Given the description of an element on the screen output the (x, y) to click on. 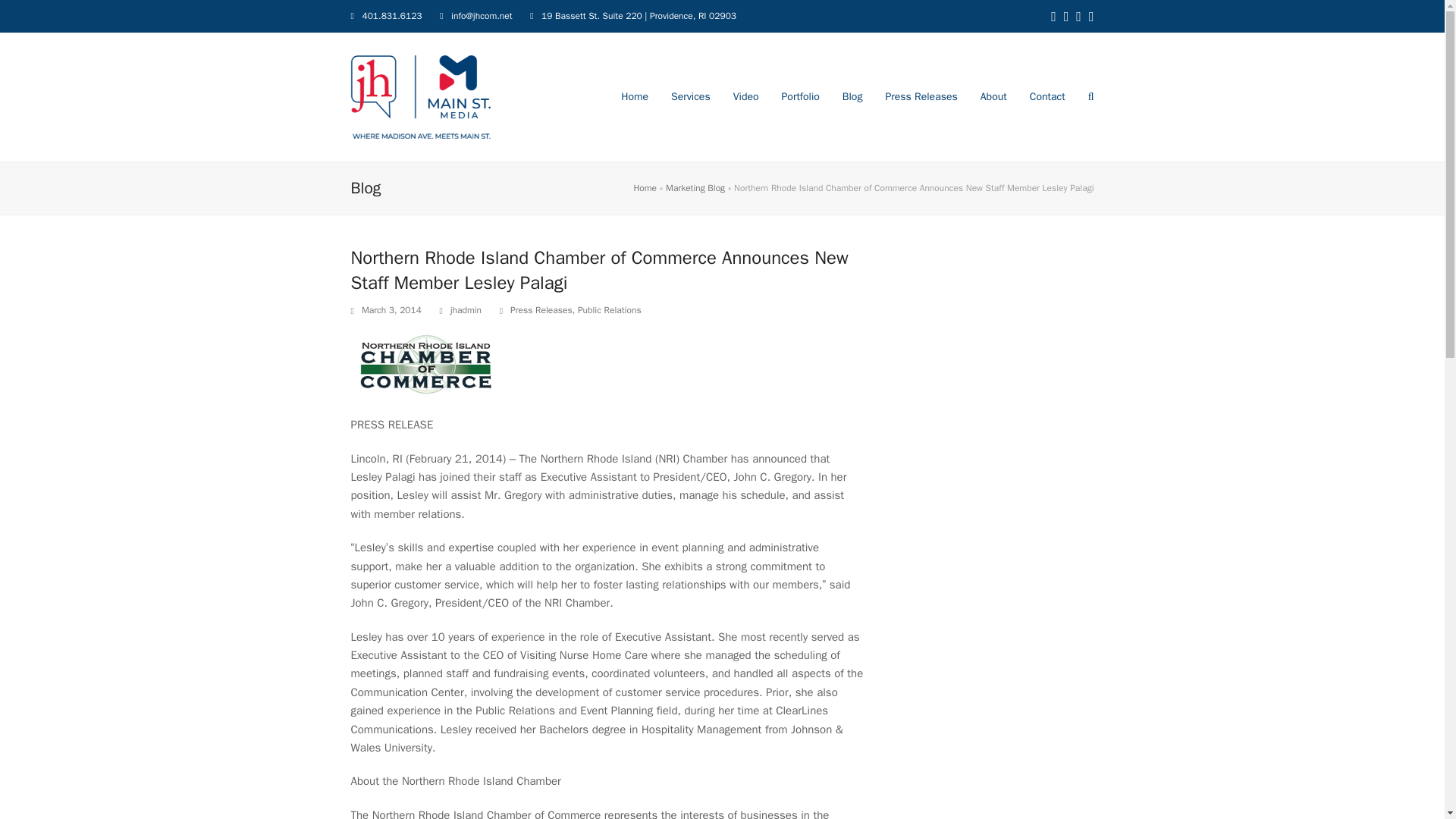
Video (746, 96)
Home (634, 96)
Press Releases (920, 96)
Marketing Blog (695, 187)
Public Relations (610, 309)
Services (690, 96)
Portfolio (800, 96)
Posts by jhadmin (465, 309)
About (993, 96)
Blog (853, 96)
jhadmin (465, 309)
Contact (1047, 96)
Home (644, 187)
Press Releases (541, 309)
